Given the description of an element on the screen output the (x, y) to click on. 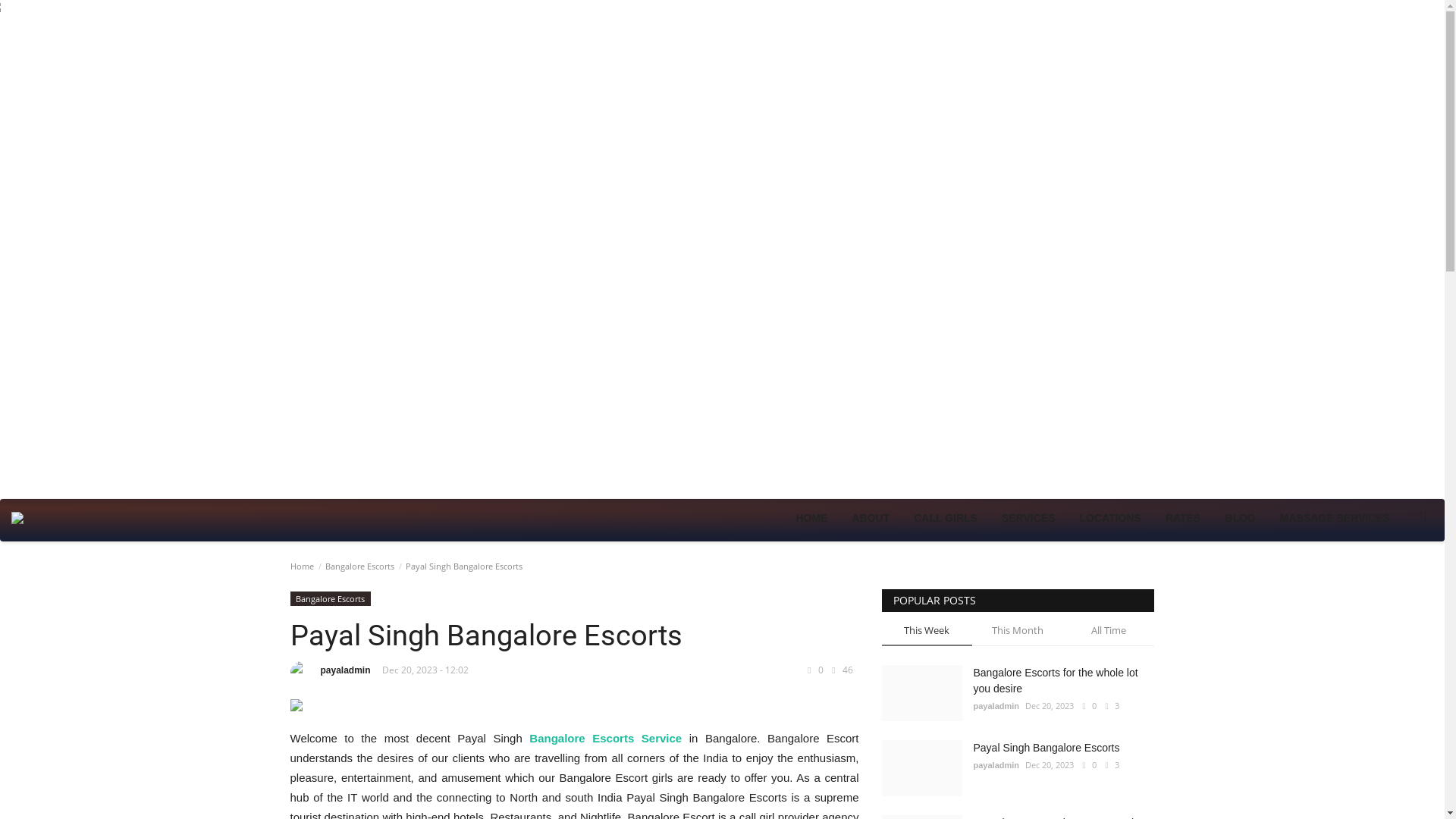
ABOUT (870, 517)
HOME (811, 517)
MASSAGE SERVICES (1335, 517)
BLOG (1239, 517)
SERVICES (1028, 517)
Bangalore Escorts (329, 597)
RATES (1182, 517)
Home (301, 565)
CALL GIRLS (945, 517)
LOCATIONS (1110, 517)
Bangalore Escorts (358, 565)
